Given the description of an element on the screen output the (x, y) to click on. 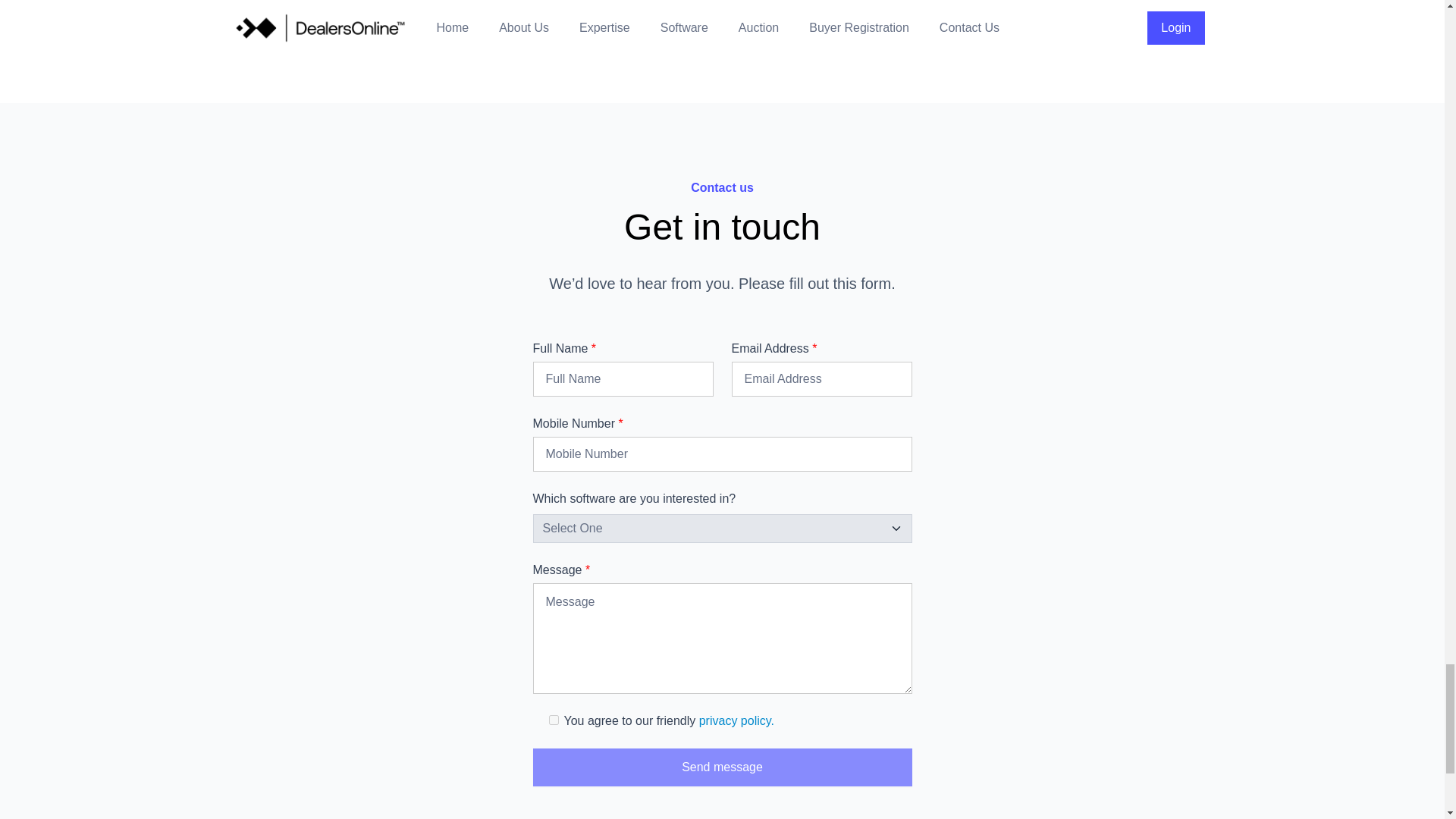
1 (553, 719)
privacy policy. (736, 720)
Send message (721, 767)
